Given the description of an element on the screen output the (x, y) to click on. 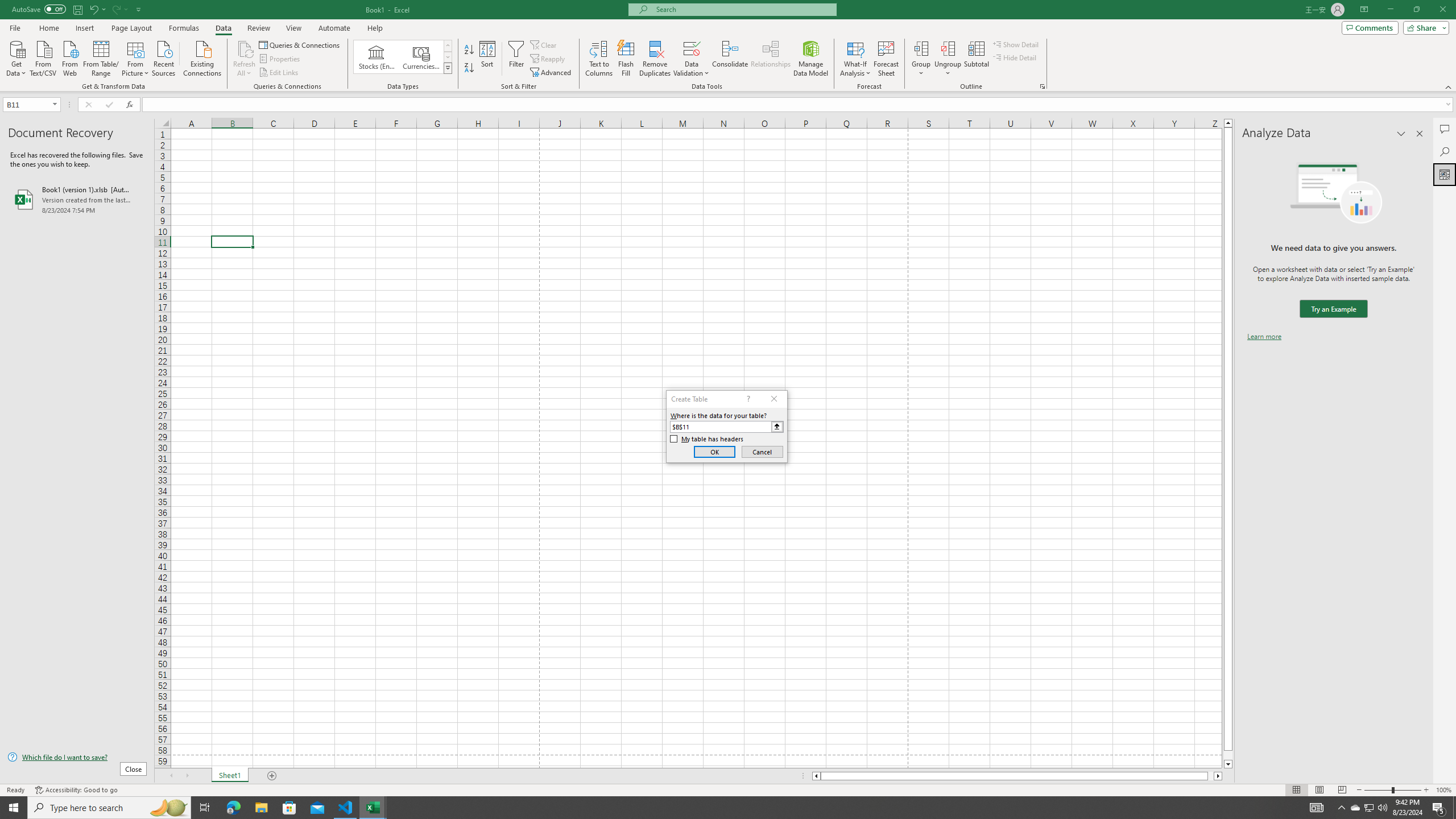
Get Data (16, 57)
Which file do I want to save? (77, 757)
Class: NetUIScrollBar (1016, 775)
Data Types (448, 67)
Row Down (448, 56)
Open (54, 104)
Help (374, 28)
Data Validation... (691, 58)
Comments (1369, 27)
Comments (1444, 128)
Save (77, 9)
Page right (1211, 775)
Recent Sources (163, 57)
Sort Z to A (469, 67)
